Given the description of an element on the screen output the (x, y) to click on. 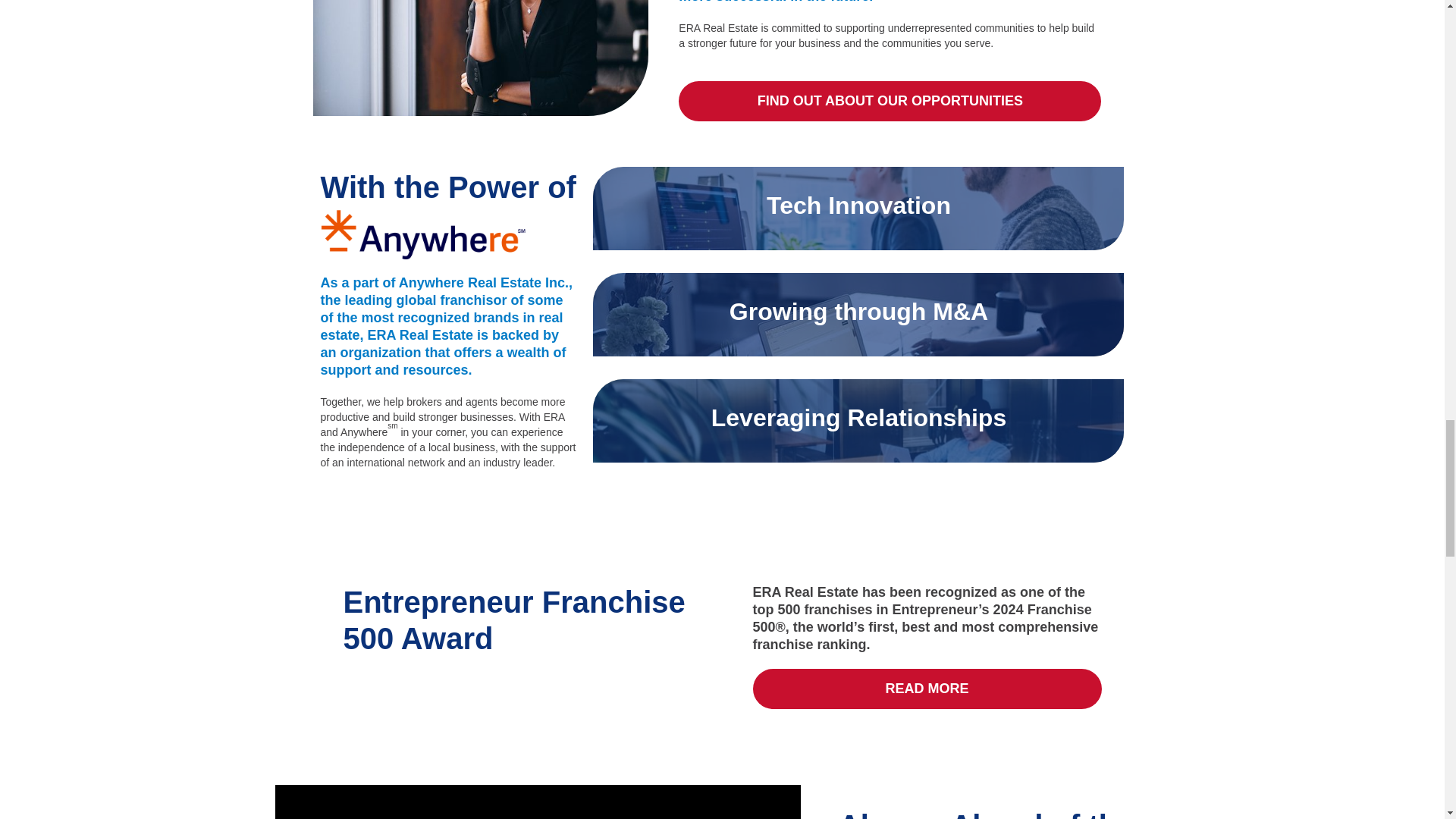
FIND OUT ABOUT OUR OPPORTUNITIES (889, 101)
vimeo Video Player (537, 801)
READ MORE (926, 689)
